Given the description of an element on the screen output the (x, y) to click on. 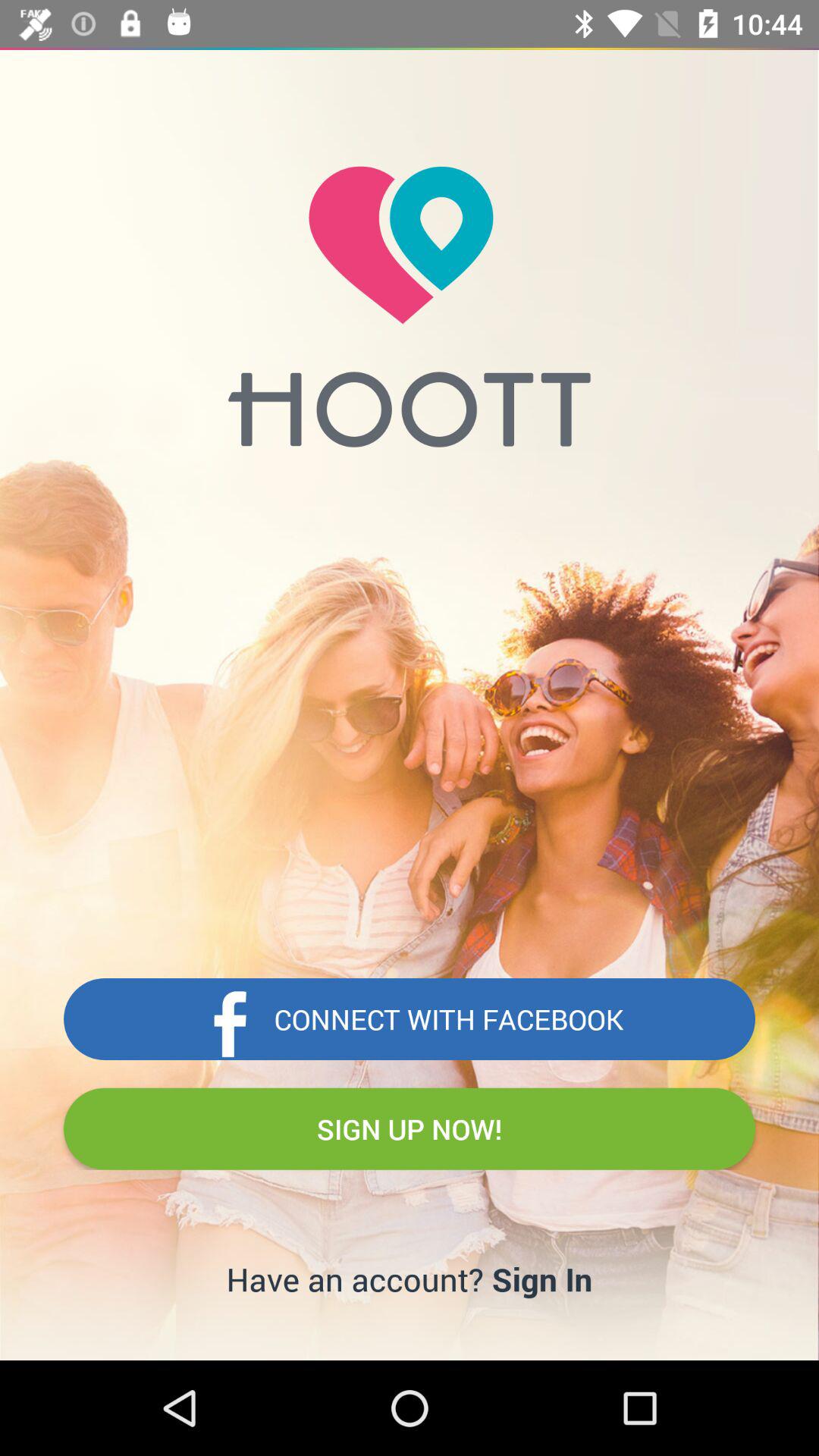
flip to the sign up now! (409, 1128)
